Given the description of an element on the screen output the (x, y) to click on. 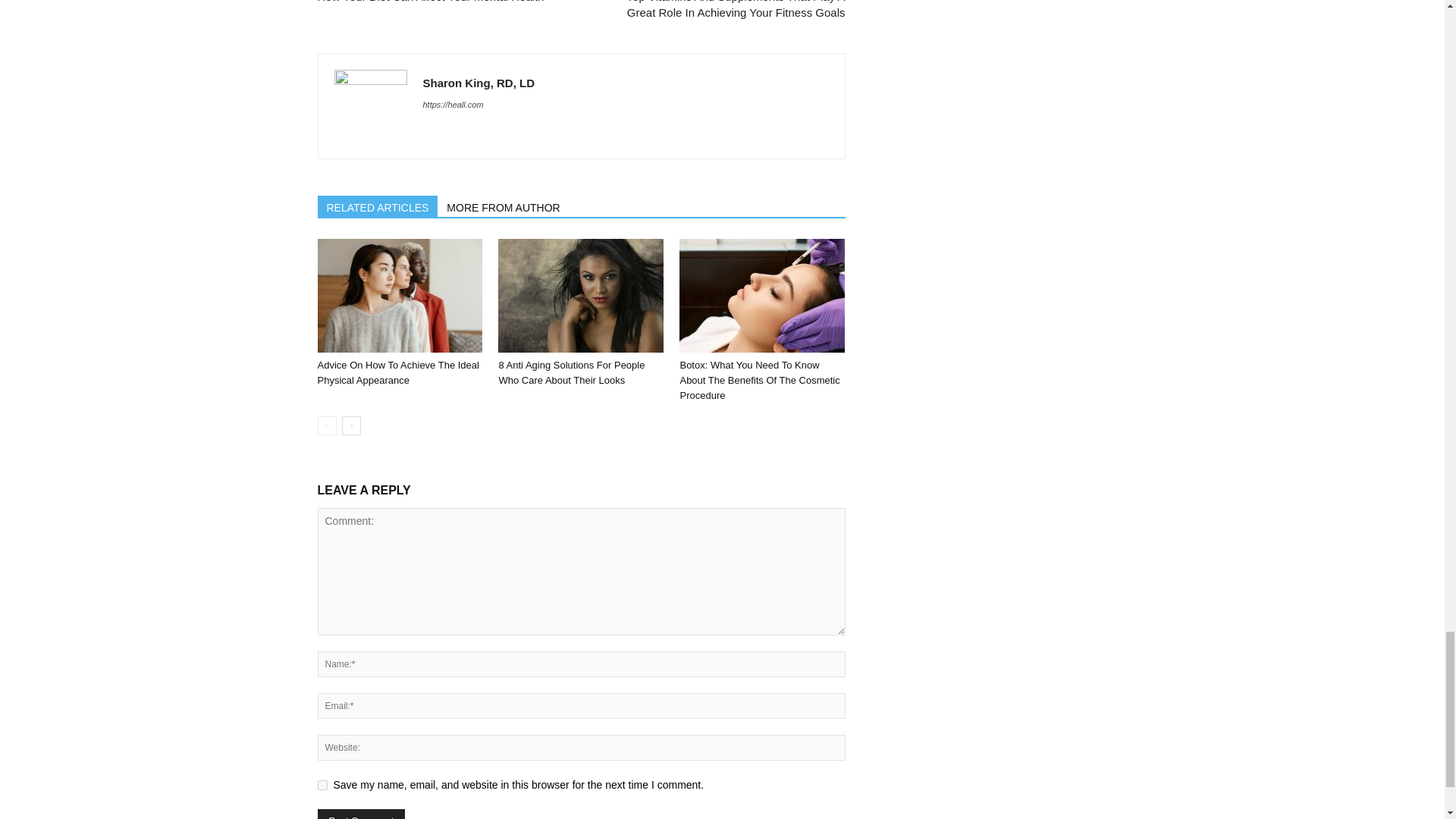
Post Comment (360, 814)
yes (321, 785)
